Given the description of an element on the screen output the (x, y) to click on. 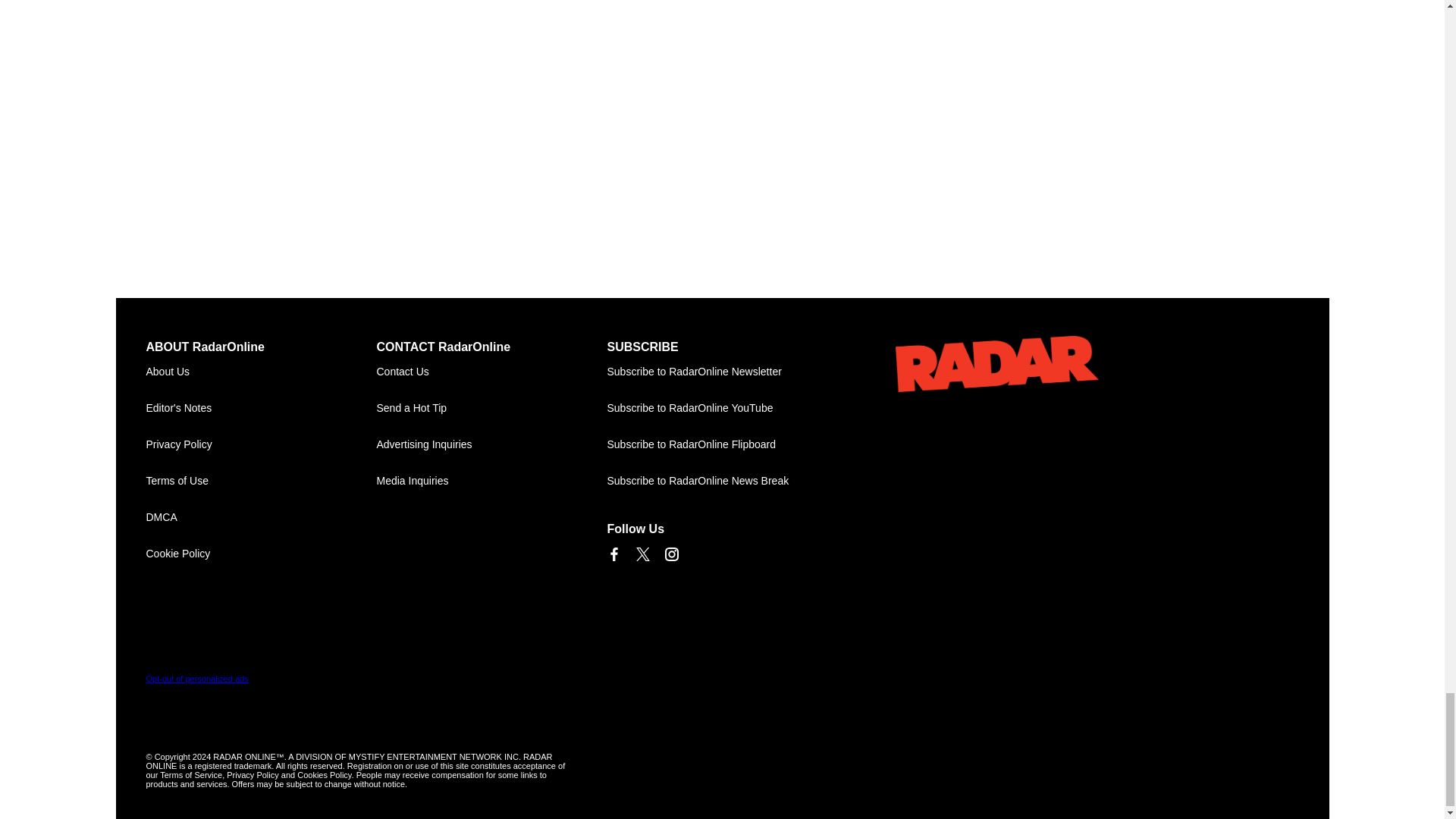
Advertising Inquiries (491, 444)
Terms of Use (260, 481)
Subscribe (722, 371)
About Us (260, 371)
Privacy Policy (260, 444)
Link to X (641, 554)
Link to Instagram (670, 554)
Send a Hot Tip (491, 408)
Contact Us (491, 371)
Editor's Notes (260, 408)
